Given the description of an element on the screen output the (x, y) to click on. 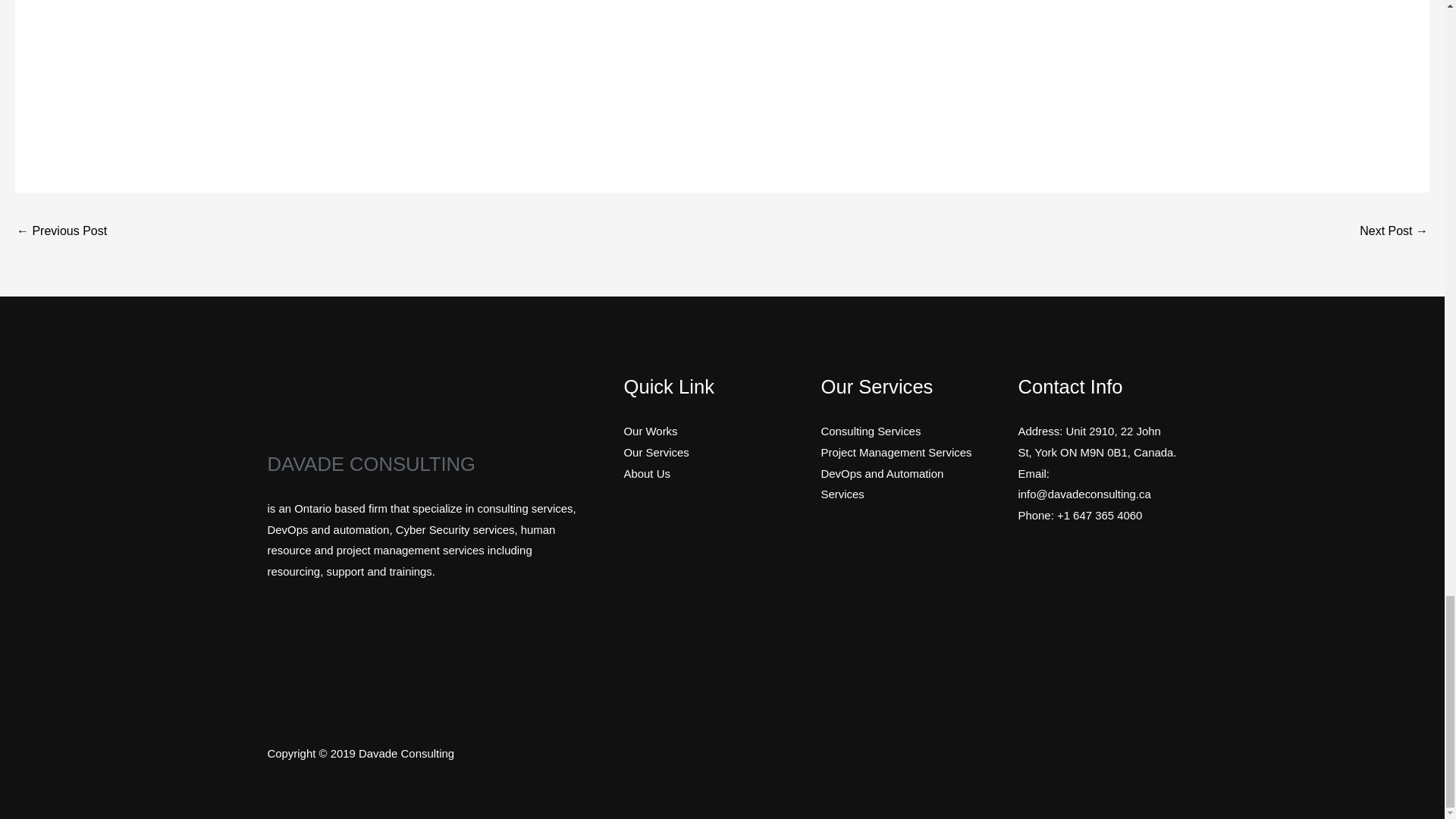
Find your perfect match on our age gap dating site (1393, 232)
Consulting Services (870, 431)
Our Services (655, 451)
Project Management Services (896, 451)
DevOps and Automation Services (882, 483)
Our Works (650, 431)
About Us (646, 472)
